Given the description of an element on the screen output the (x, y) to click on. 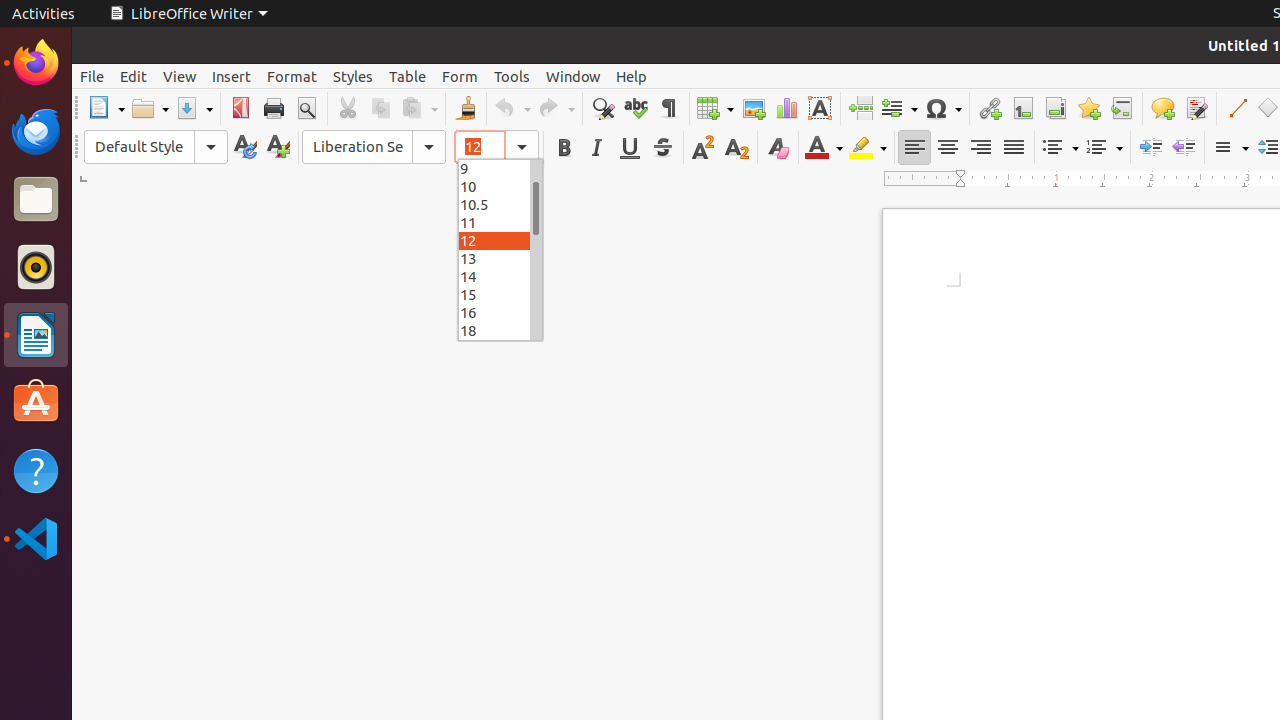
Rhythmbox Element type: push-button (36, 267)
Files Element type: push-button (36, 199)
Justified Element type: toggle-button (1013, 147)
Visual Studio Code Element type: push-button (36, 538)
Thunderbird Mail Element type: push-button (36, 131)
